Given the description of an element on the screen output the (x, y) to click on. 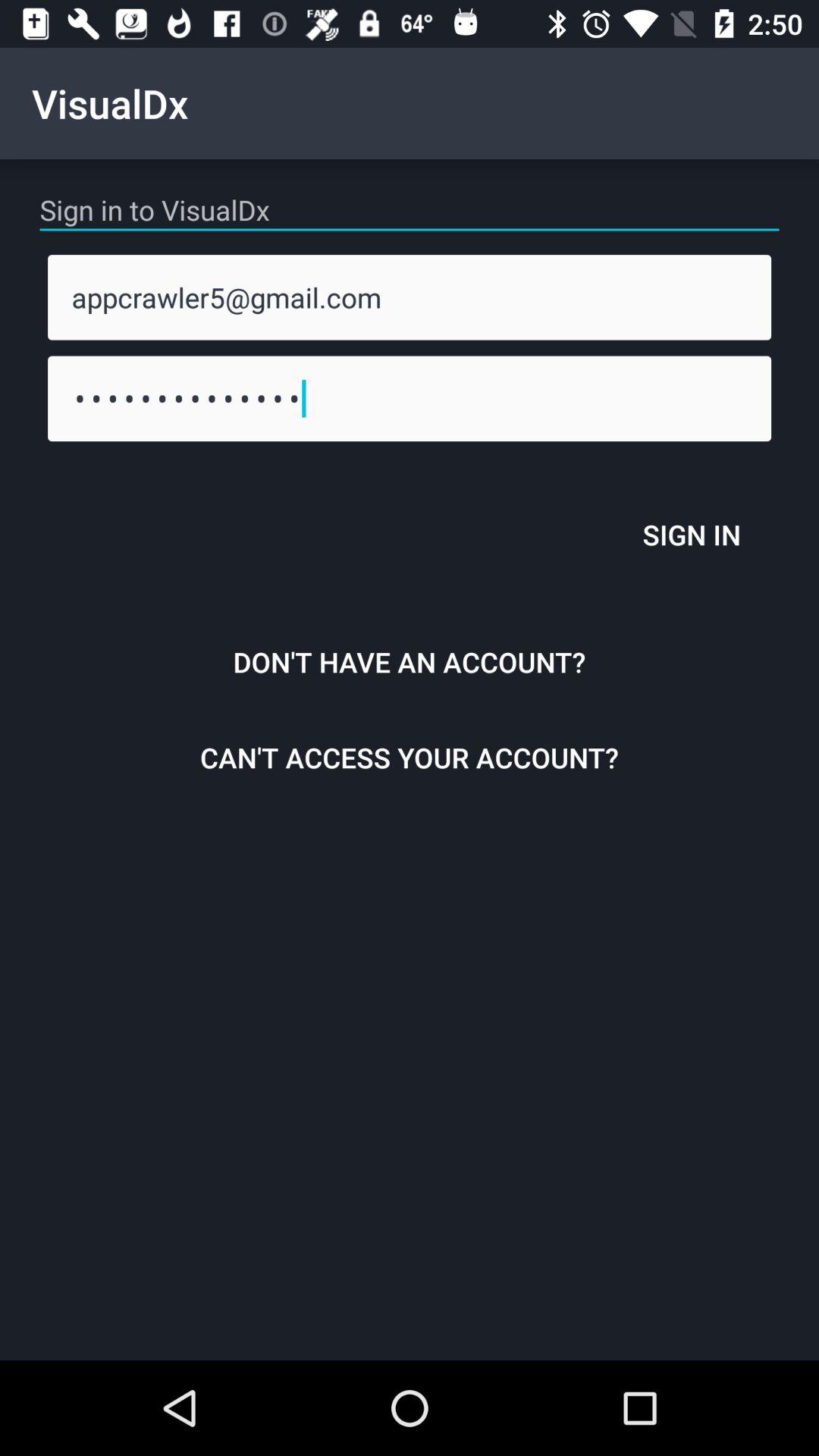
flip until the appcrawler5@gmail.com (409, 297)
